Given the description of an element on the screen output the (x, y) to click on. 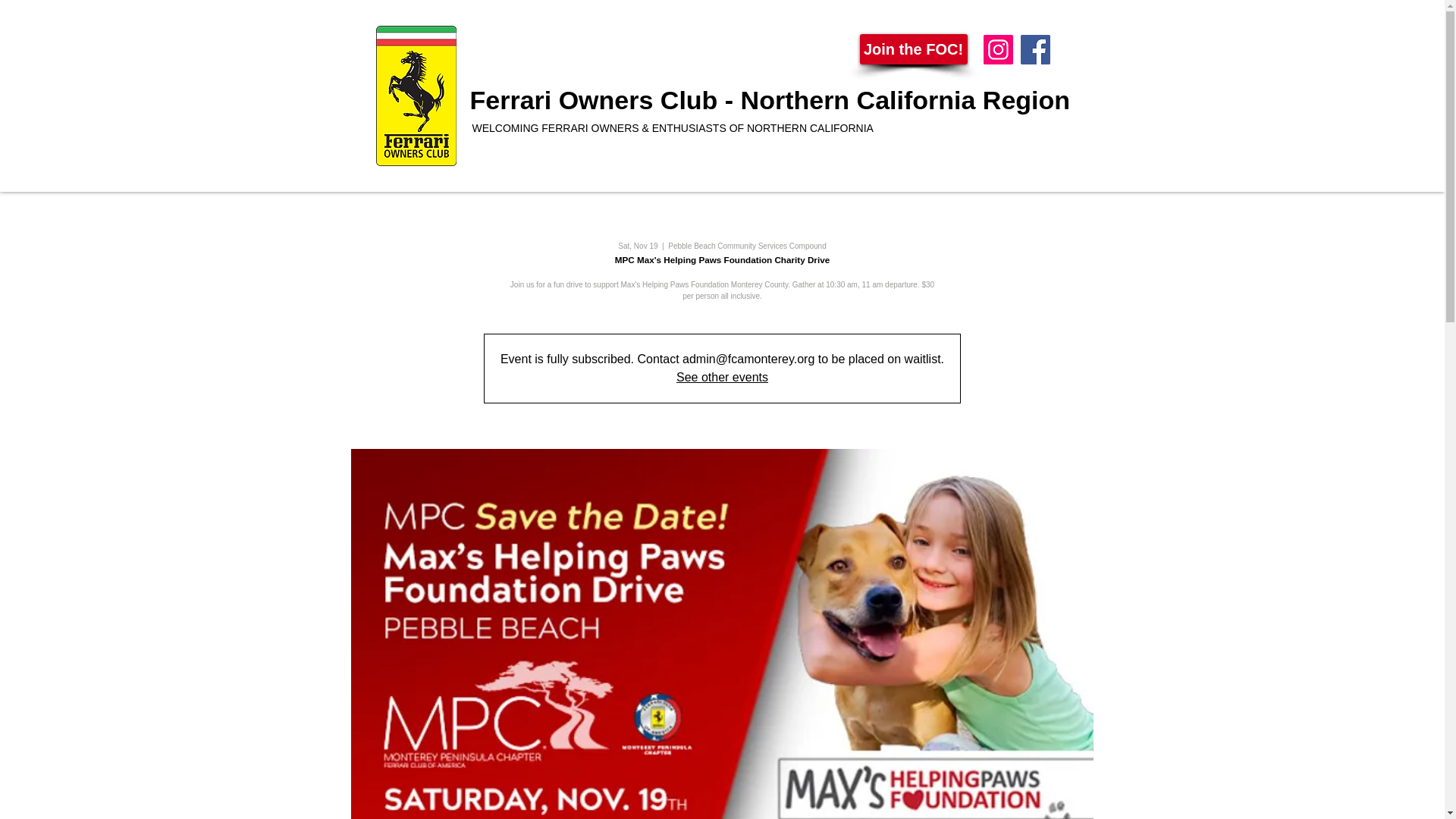
See other events (722, 377)
Ferrari Owners Club - Northern California Region (770, 99)
Join the FOC! (914, 49)
